Given the description of an element on the screen output the (x, y) to click on. 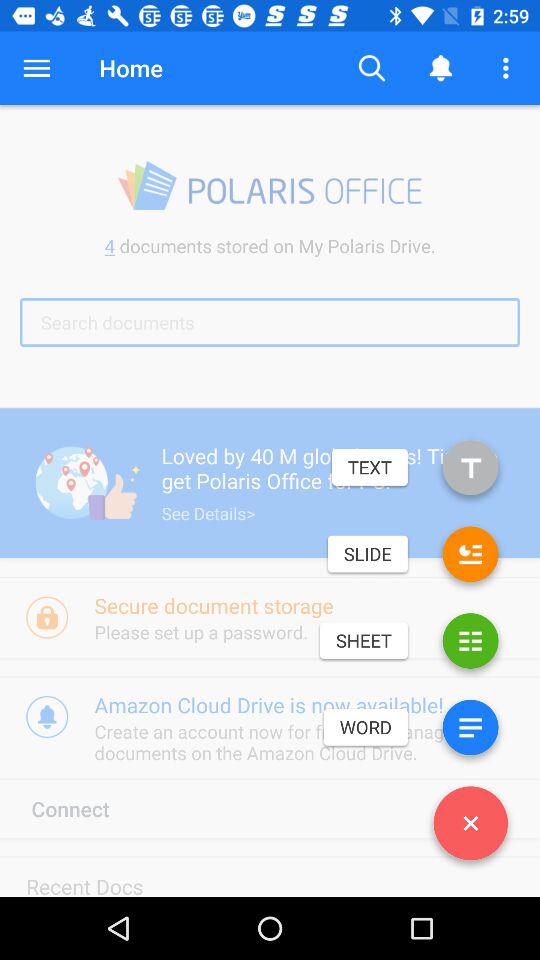
open slideshow (470, 558)
